Given the description of an element on the screen output the (x, y) to click on. 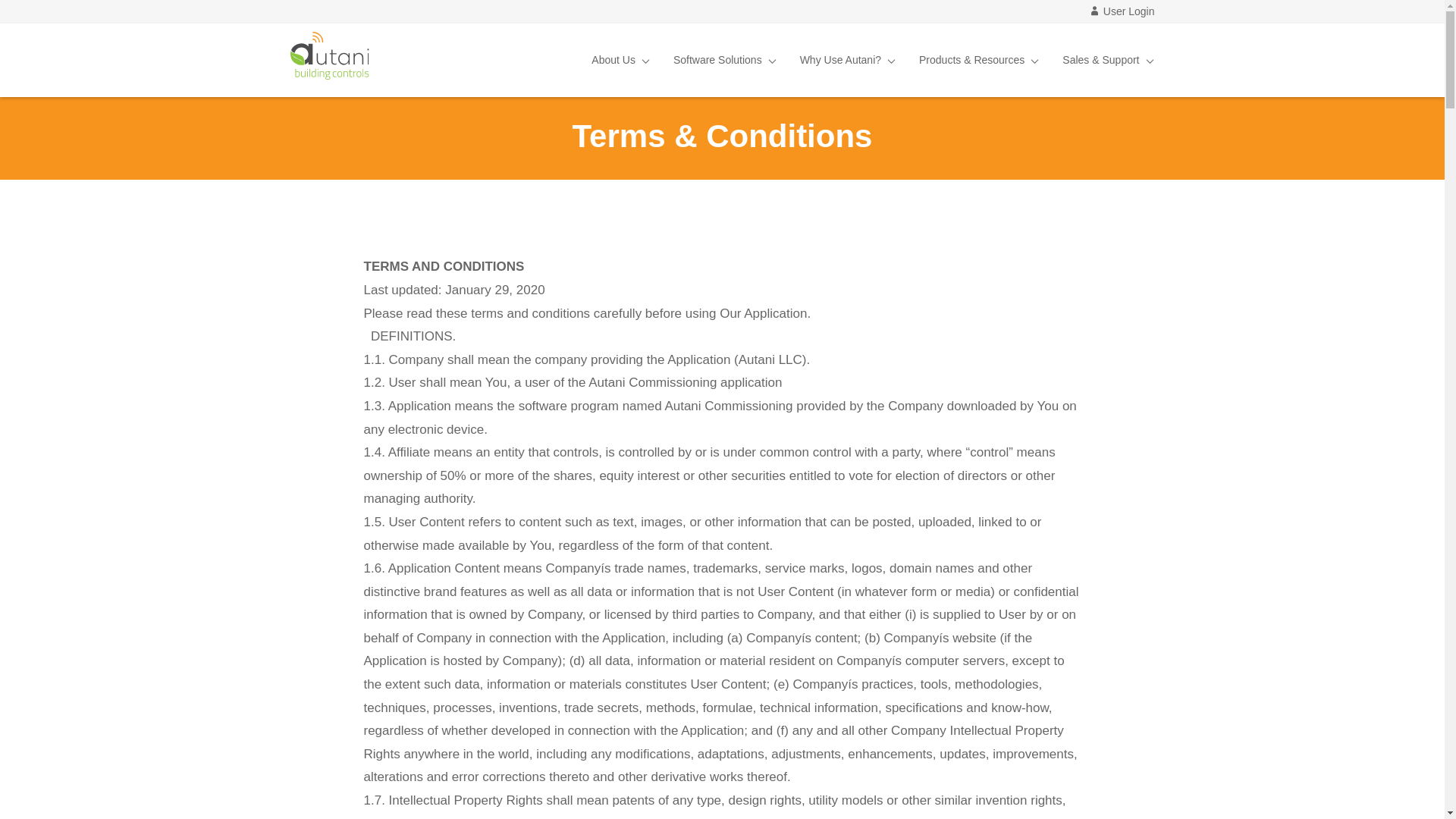
User Login (1122, 10)
